Given the description of an element on the screen output the (x, y) to click on. 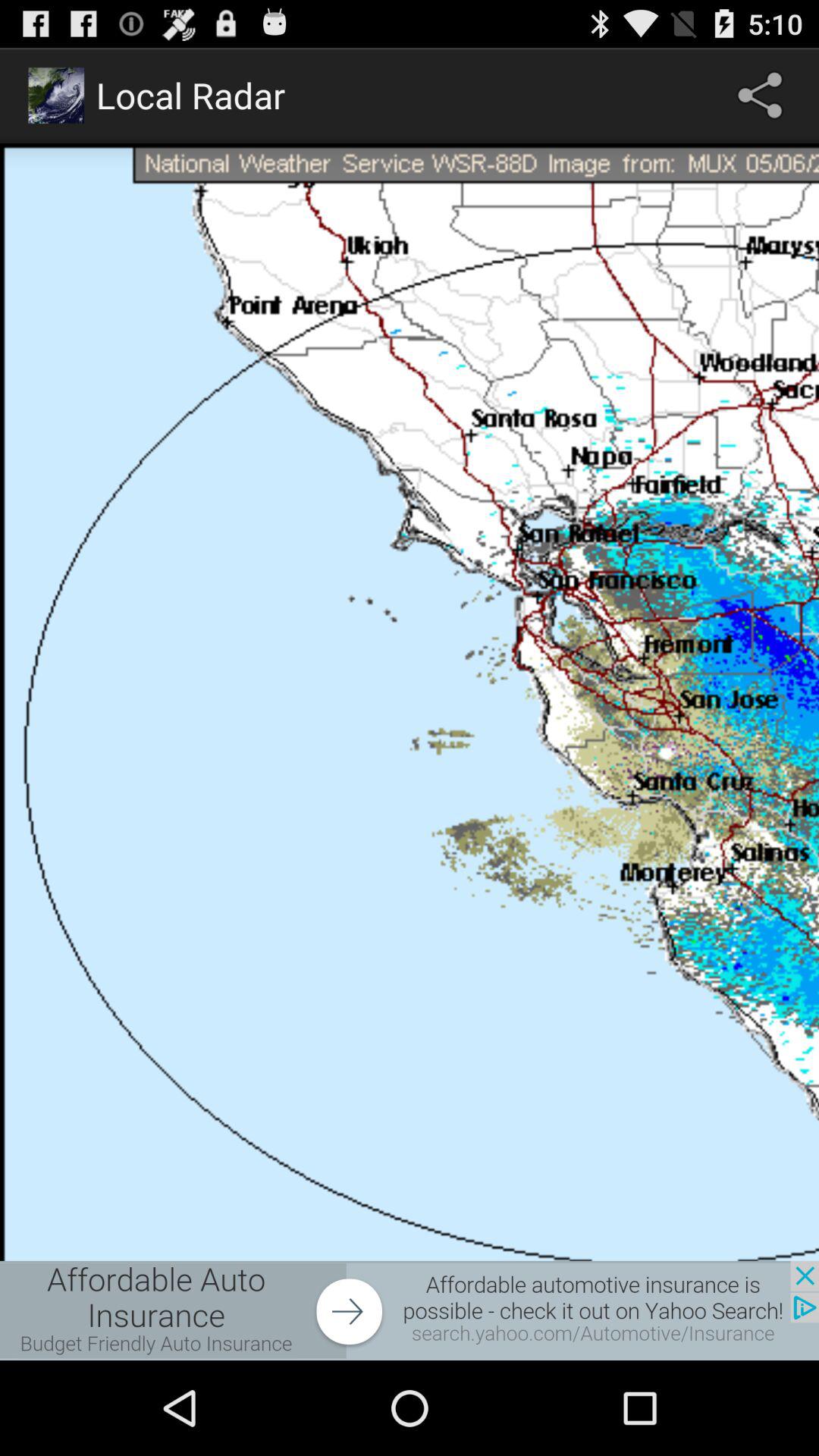
total web page (409, 701)
